Given the description of an element on the screen output the (x, y) to click on. 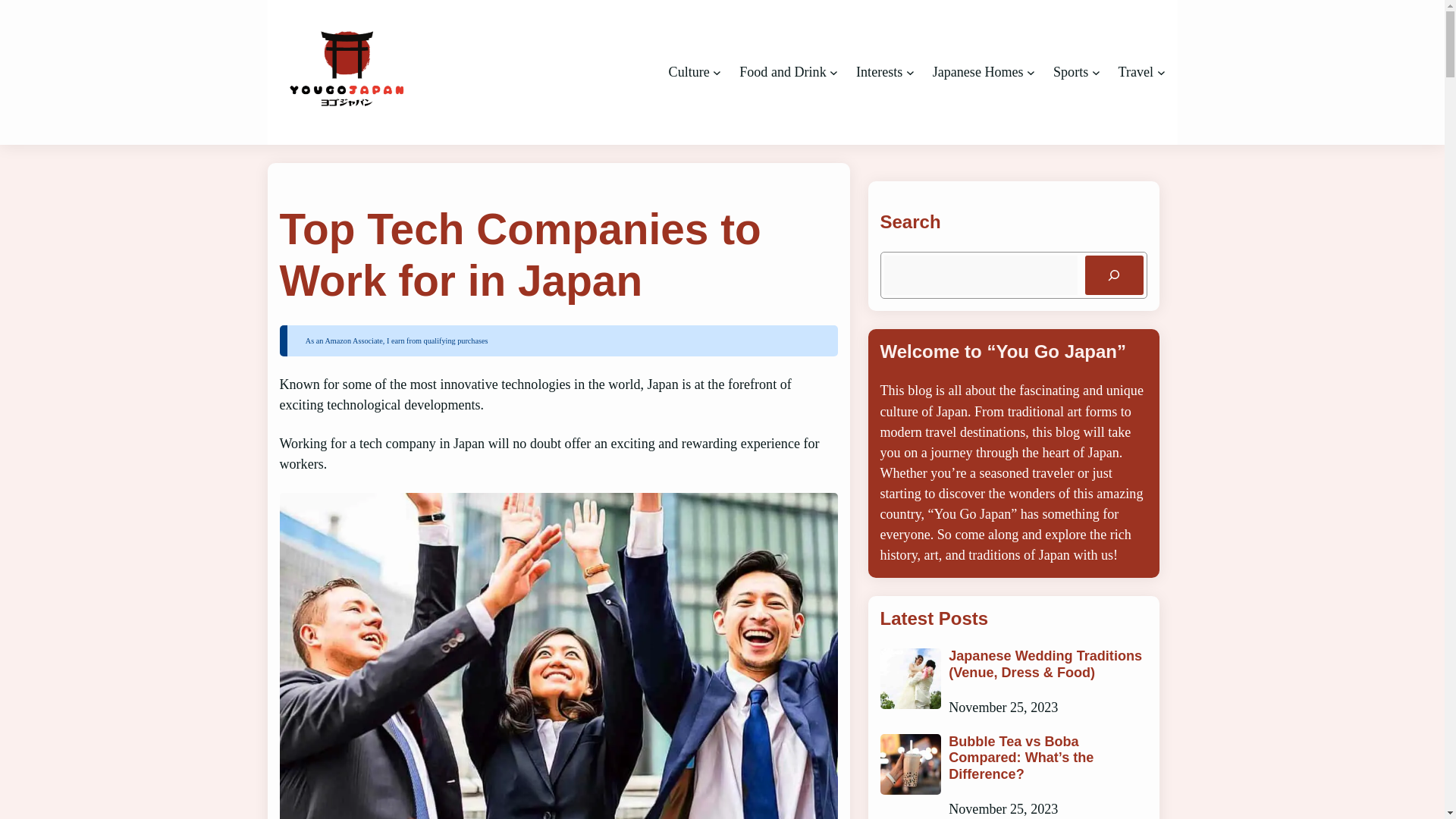
Food and Drink (783, 72)
Sports (1069, 72)
Interests (879, 72)
Culture (689, 72)
Japanese Homes (978, 72)
